Given the description of an element on the screen output the (x, y) to click on. 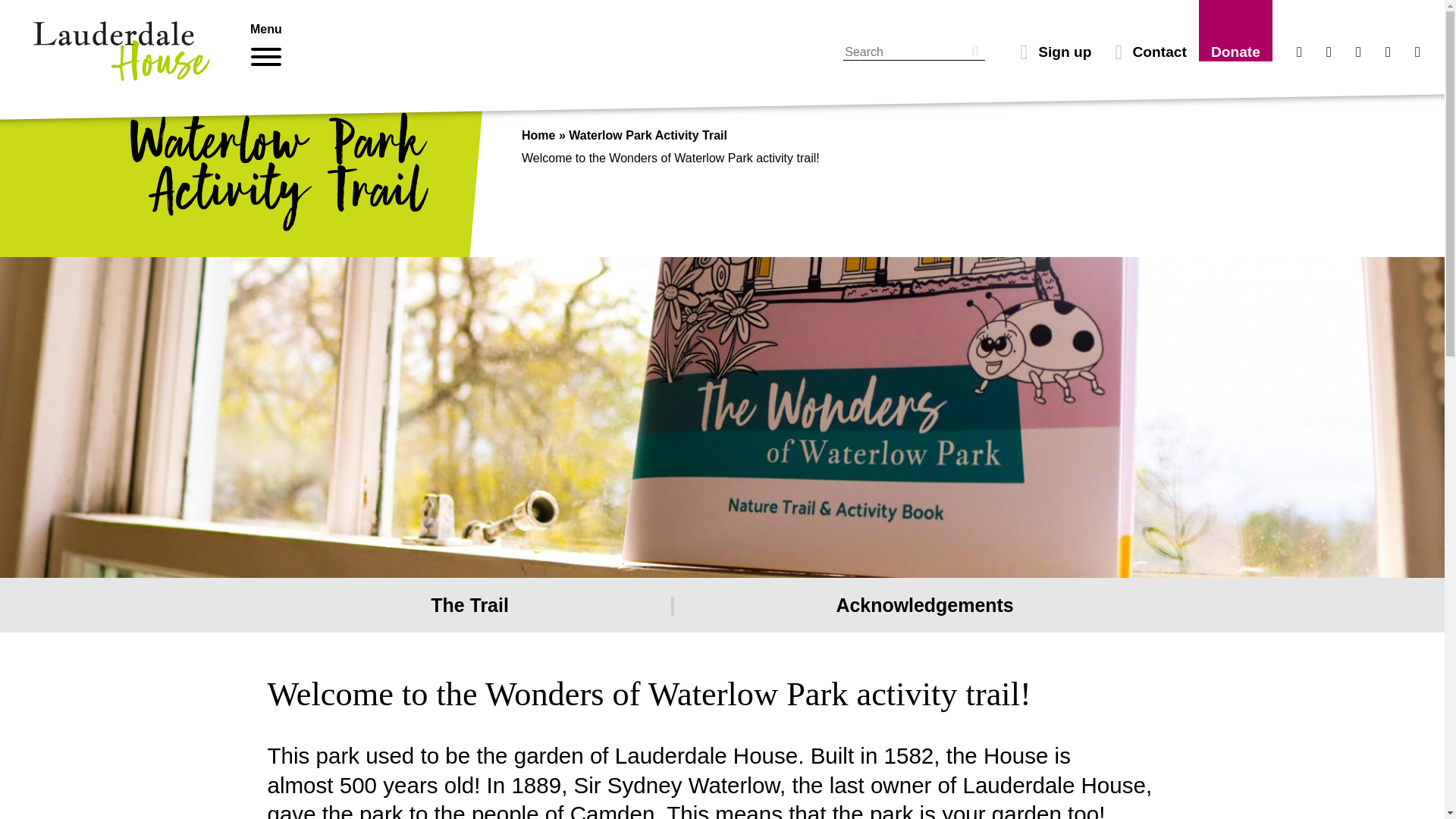
Sign up (1056, 51)
Contact (1151, 51)
Search (967, 52)
Donate (1235, 51)
Enter the terms you wish to search for. (914, 52)
